Given the description of an element on the screen output the (x, y) to click on. 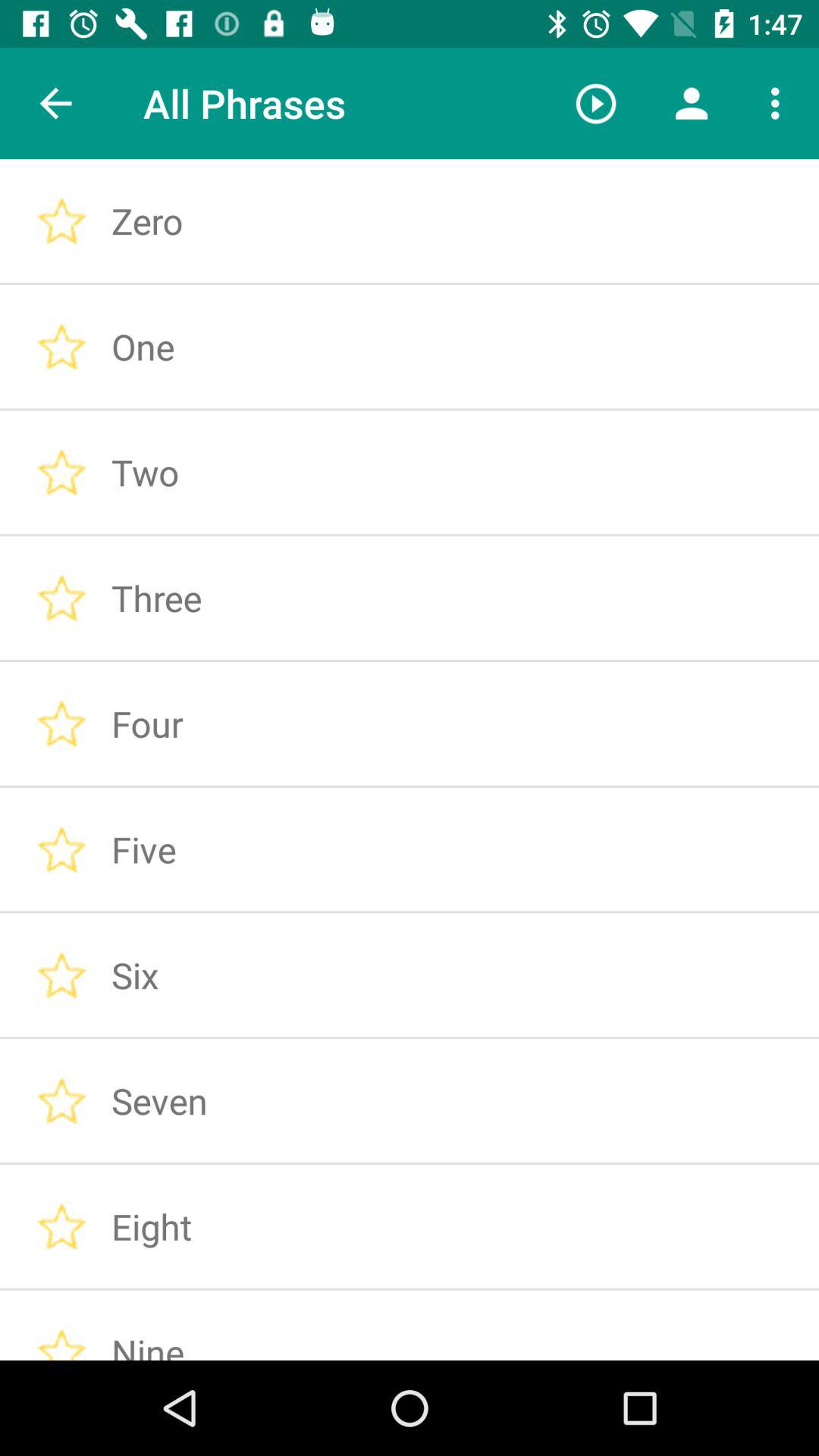
choose item next to all phrases icon (595, 103)
